Given the description of an element on the screen output the (x, y) to click on. 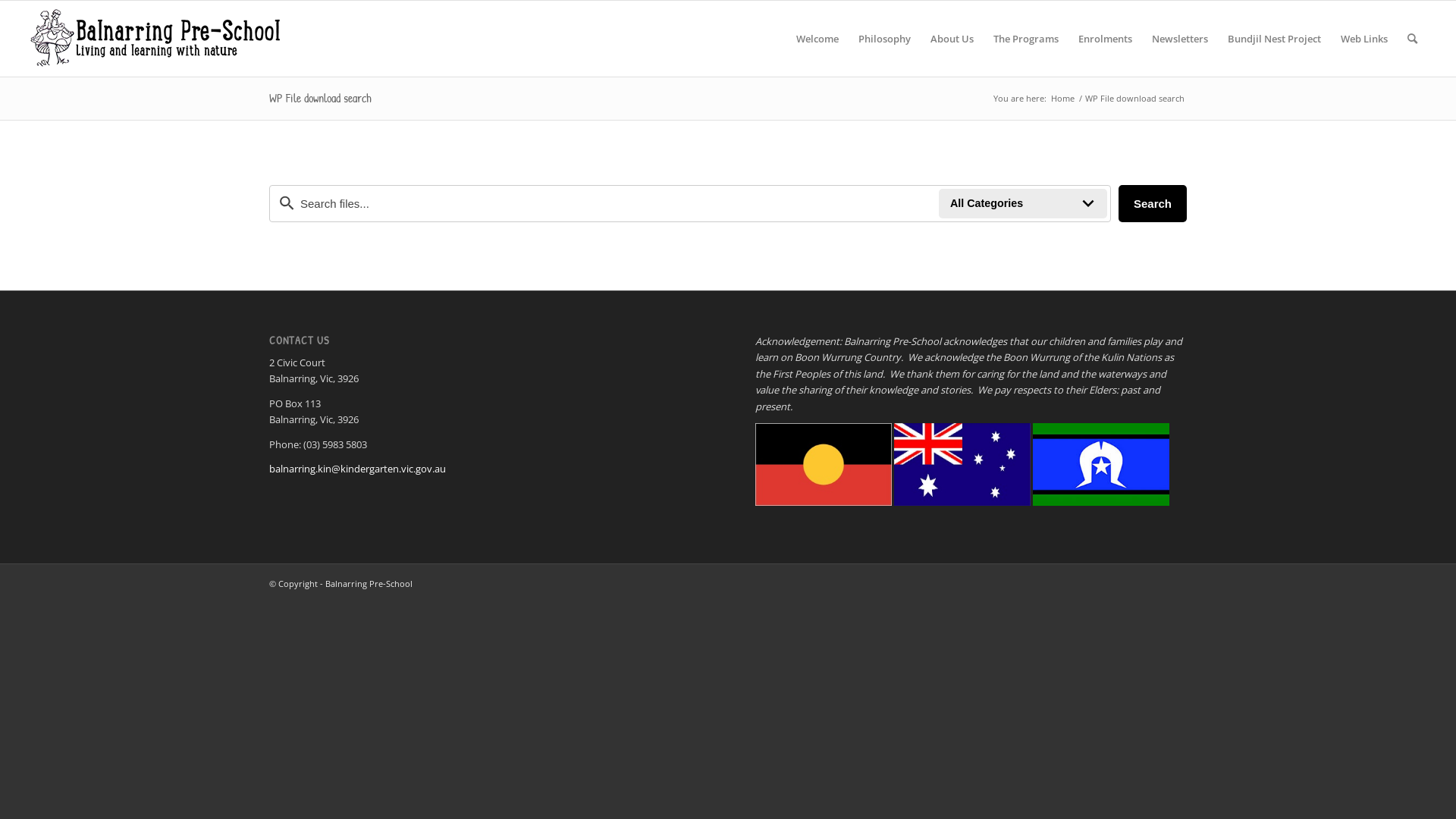
Newsletters Element type: text (1179, 38)
Bundjil Nest Project Element type: text (1273, 38)
The Programs Element type: text (1025, 38)
Web Links Element type: text (1363, 38)
WP File download search Element type: text (320, 97)
preschool-logo-header Element type: hover (153, 38)
balnarring.kin@kindergarten.vic.gov.au Element type: text (357, 468)
Philosophy Element type: text (884, 38)
Search Element type: text (1152, 203)
About Us Element type: text (951, 38)
Welcome Element type: text (817, 38)
Enrolments Element type: text (1105, 38)
Home Element type: text (1062, 97)
